Given the description of an element on the screen output the (x, y) to click on. 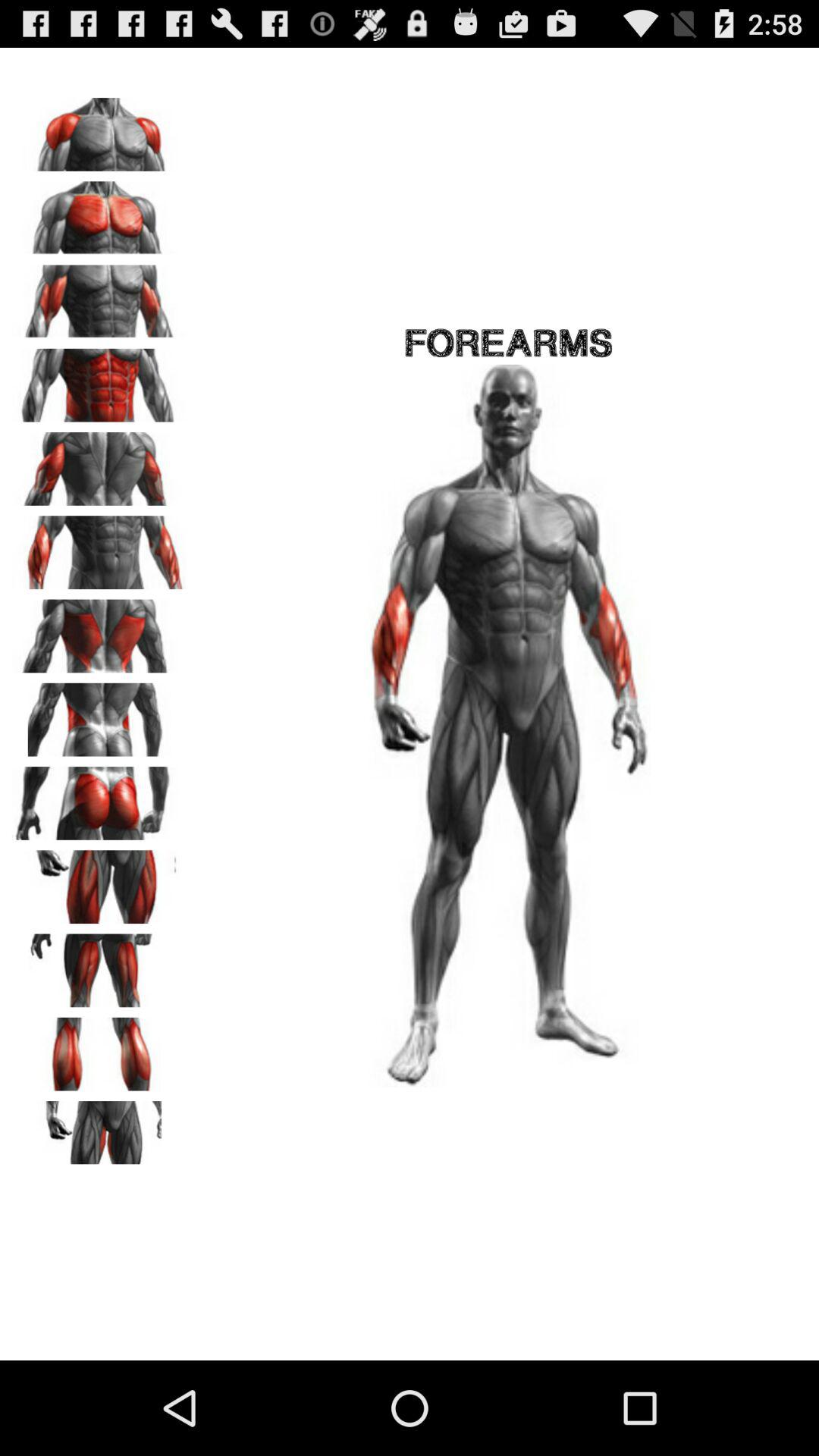
select option 8 (99, 714)
